Given the description of an element on the screen output the (x, y) to click on. 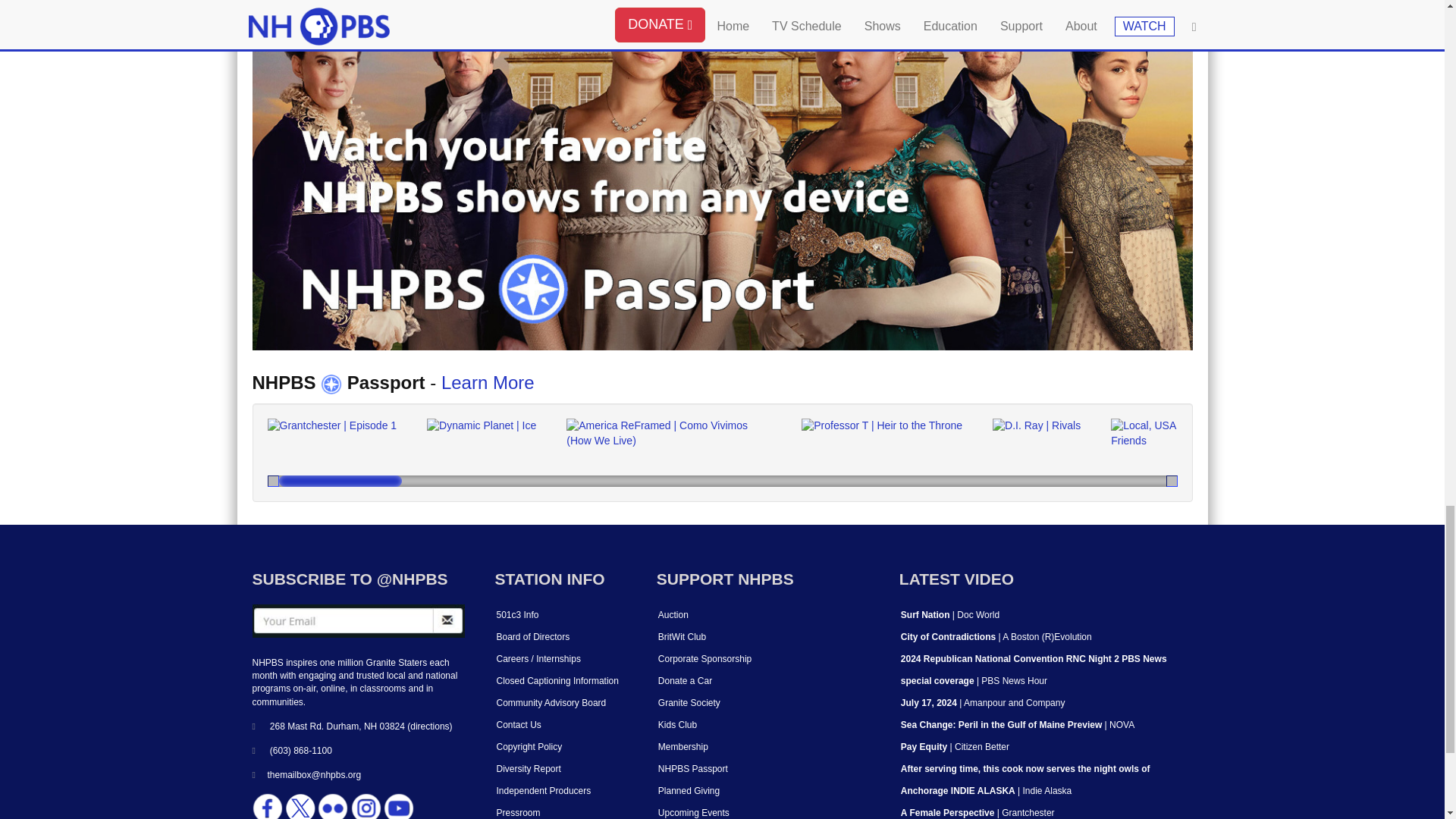
Twitter (300, 806)
YouTube (398, 806)
Directions (429, 726)
Flickr (332, 806)
Instagram (365, 806)
Facebook (266, 806)
